Given the description of an element on the screen output the (x, y) to click on. 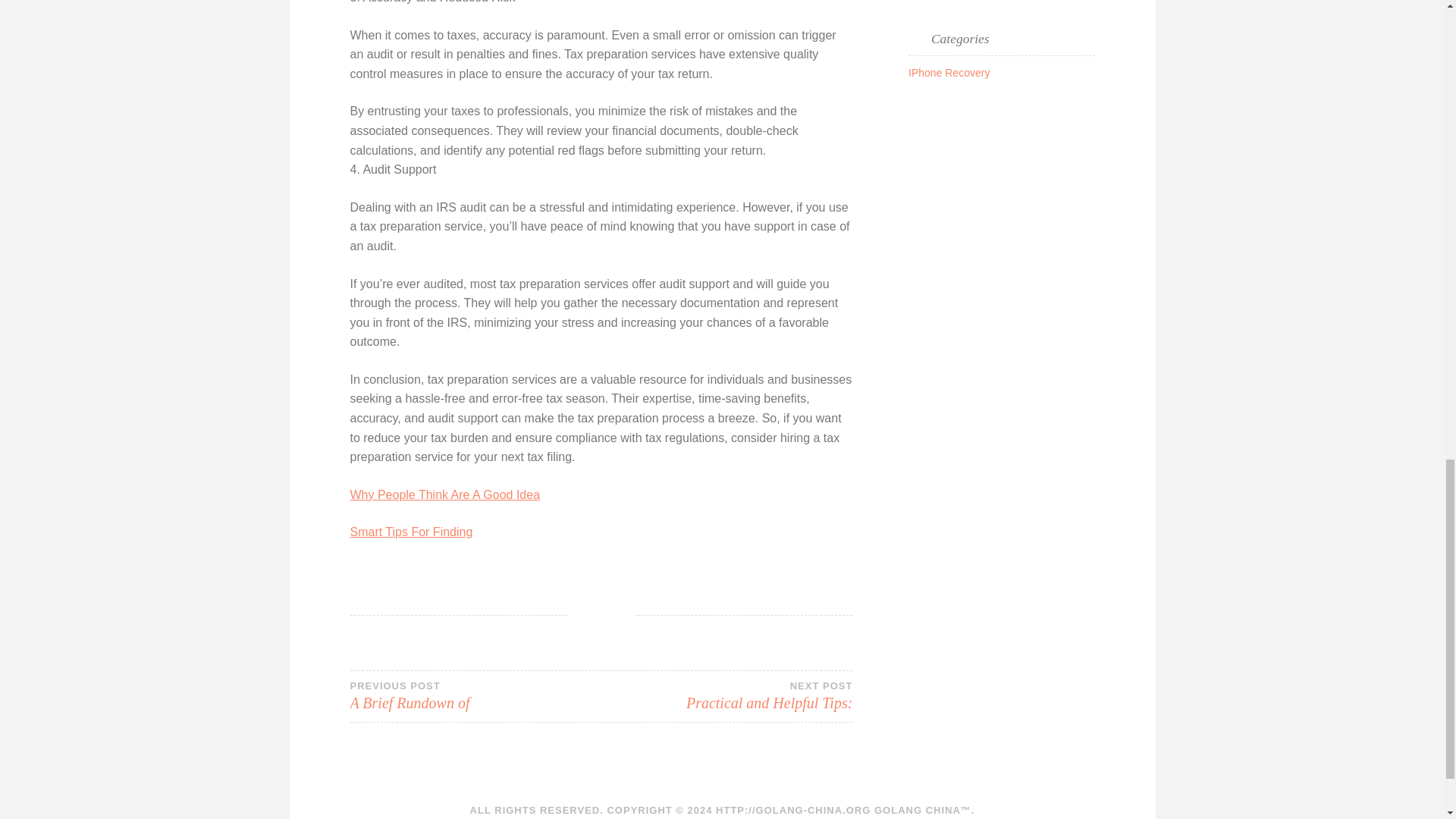
Smart Tips For Finding (411, 531)
IPhone Recovery (949, 72)
Why People Think Are A Good Idea (726, 695)
